Given the description of an element on the screen output the (x, y) to click on. 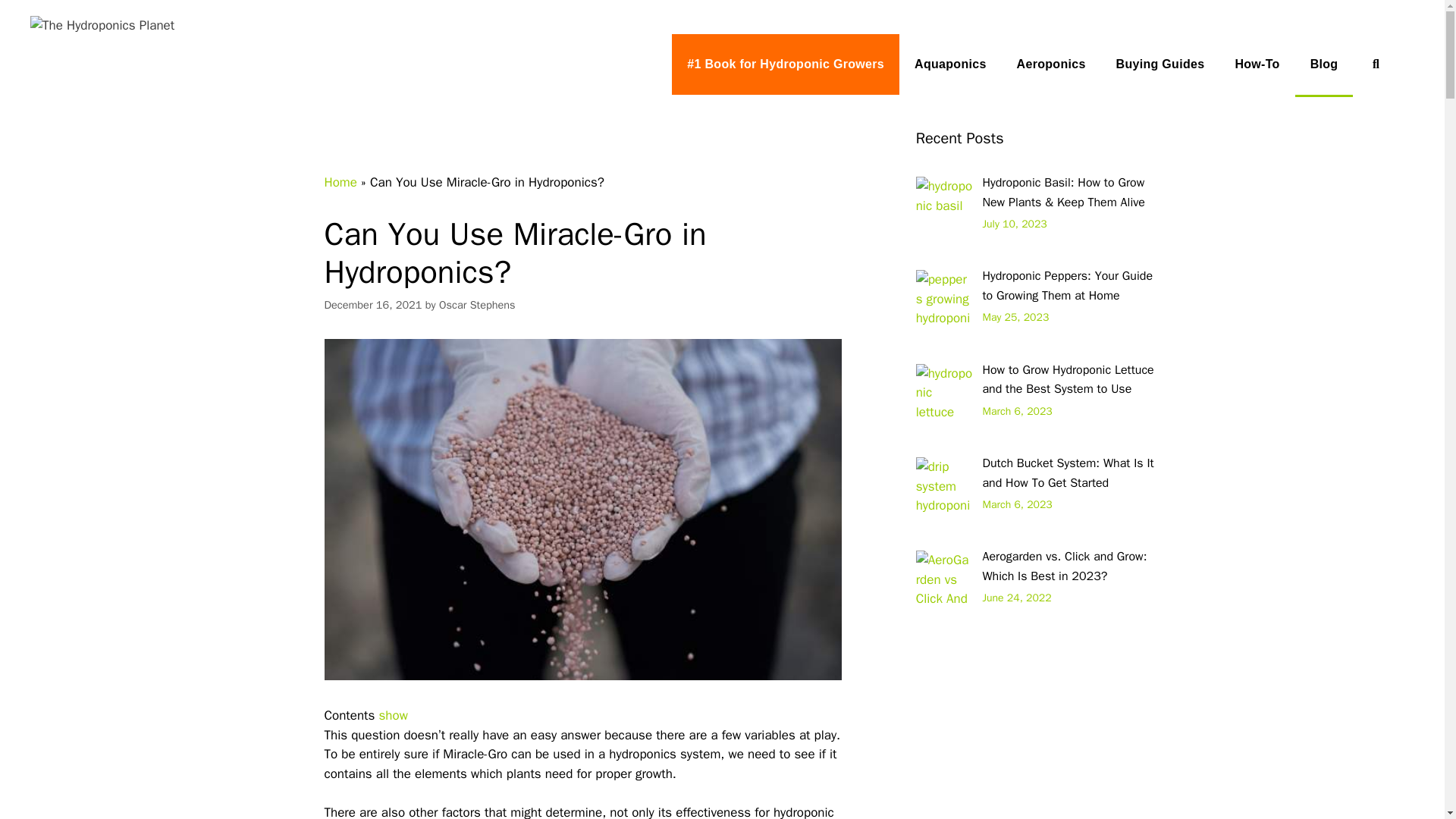
Home (340, 182)
Aeroponics (1050, 64)
show (392, 715)
Blog (1324, 65)
How to Grow Hydroponic Lettuce and the Best System to Use (1067, 379)
Aerogarden vs. Click and Grow: Which Is Best in 2023? (1064, 565)
Aquaponics (950, 64)
The Hydroponics Planet (102, 24)
The Hydroponics Planet (102, 25)
Hydroponic Peppers: Your Guide to Growing Them at Home (1067, 285)
